Given the description of an element on the screen output the (x, y) to click on. 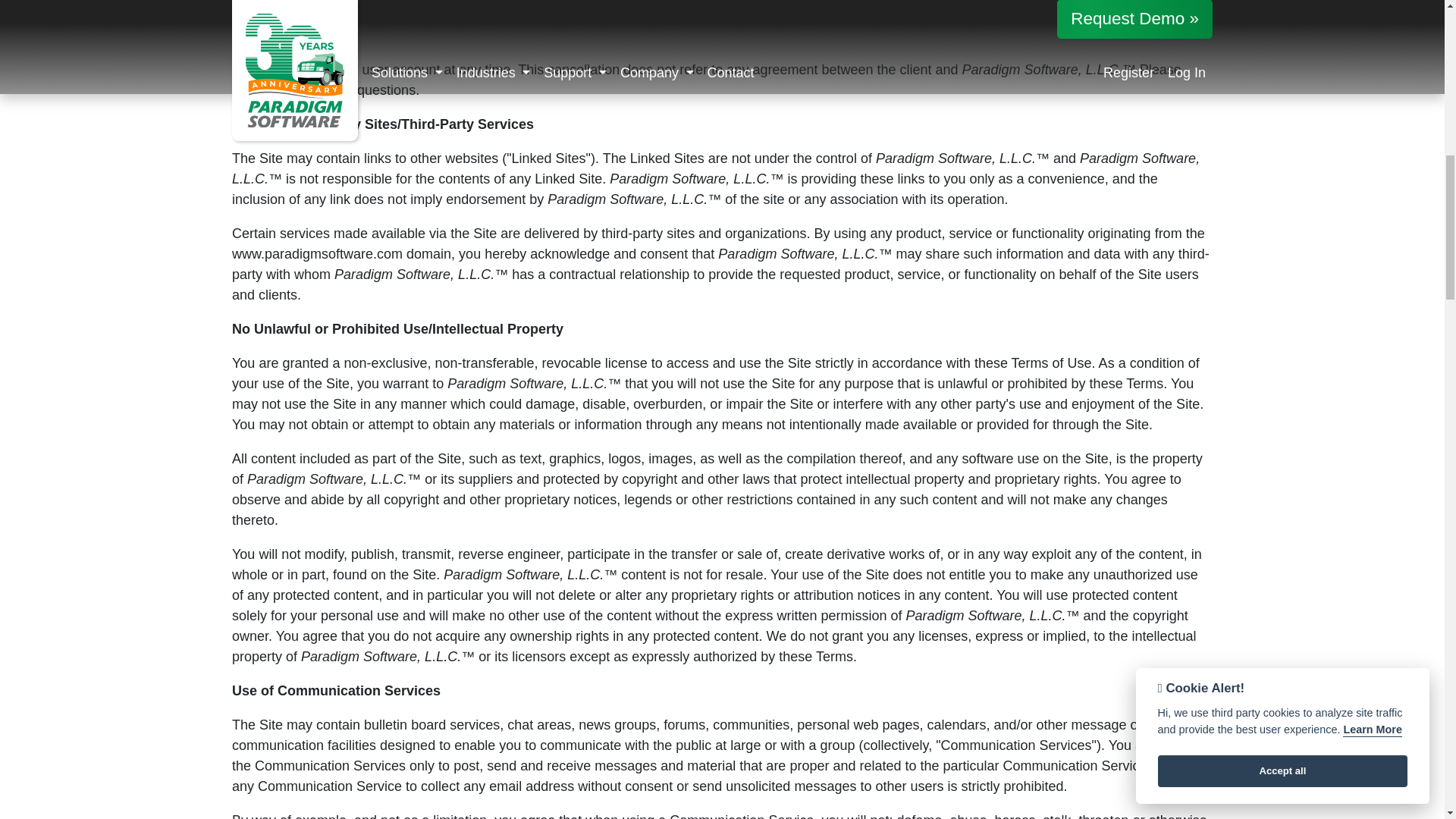
Contact Us (265, 89)
